Given the description of an element on the screen output the (x, y) to click on. 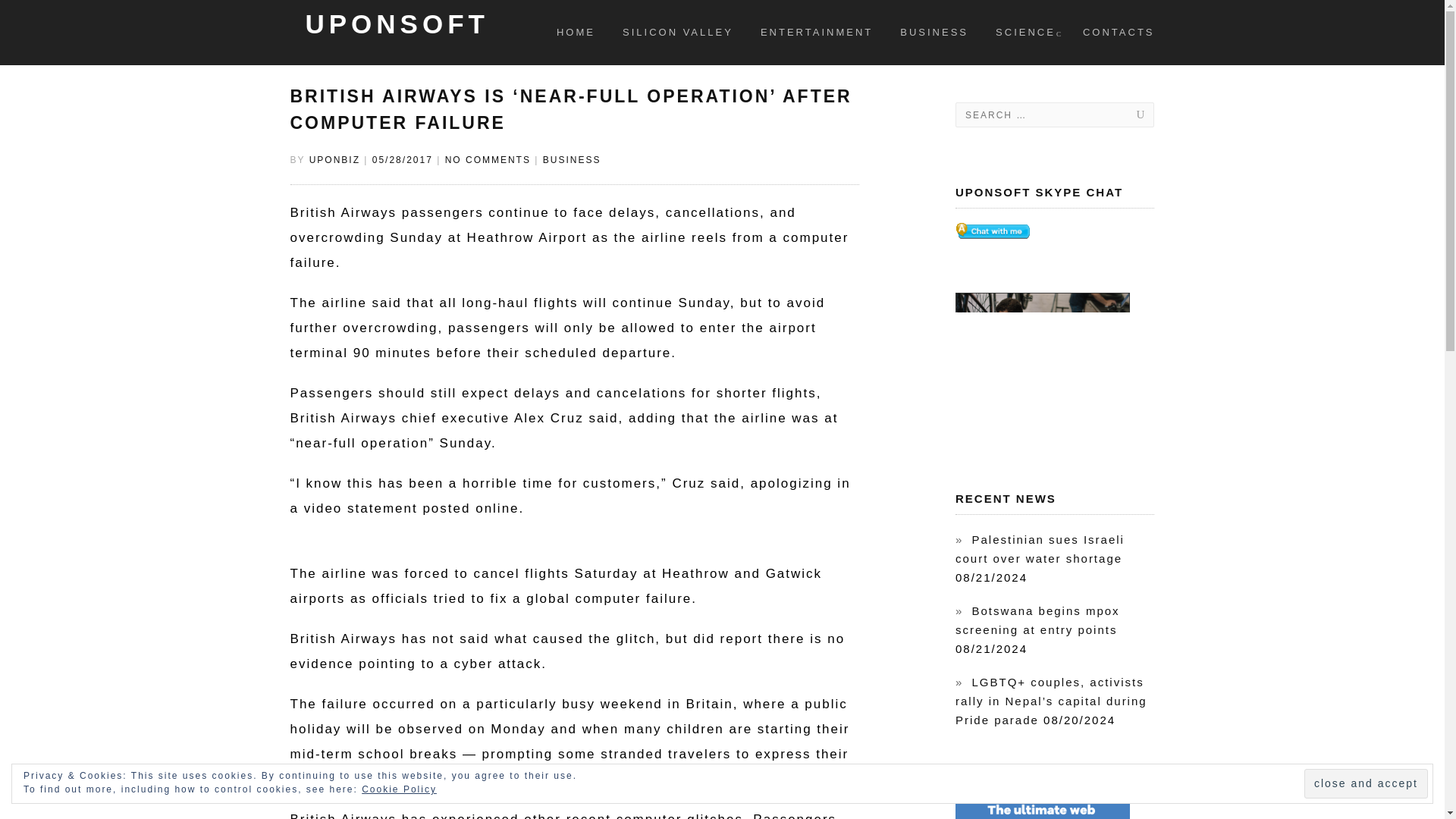
HOME (575, 32)
NO COMMENTS (488, 159)
UPONSOFT (395, 48)
UPONSOFT (395, 20)
BUSINESS (933, 32)
SILICON VALLEY (677, 32)
CONTACTS (1118, 32)
Search (1125, 114)
UPONBIZ (333, 159)
BUSINESS (572, 159)
